Given the description of an element on the screen output the (x, y) to click on. 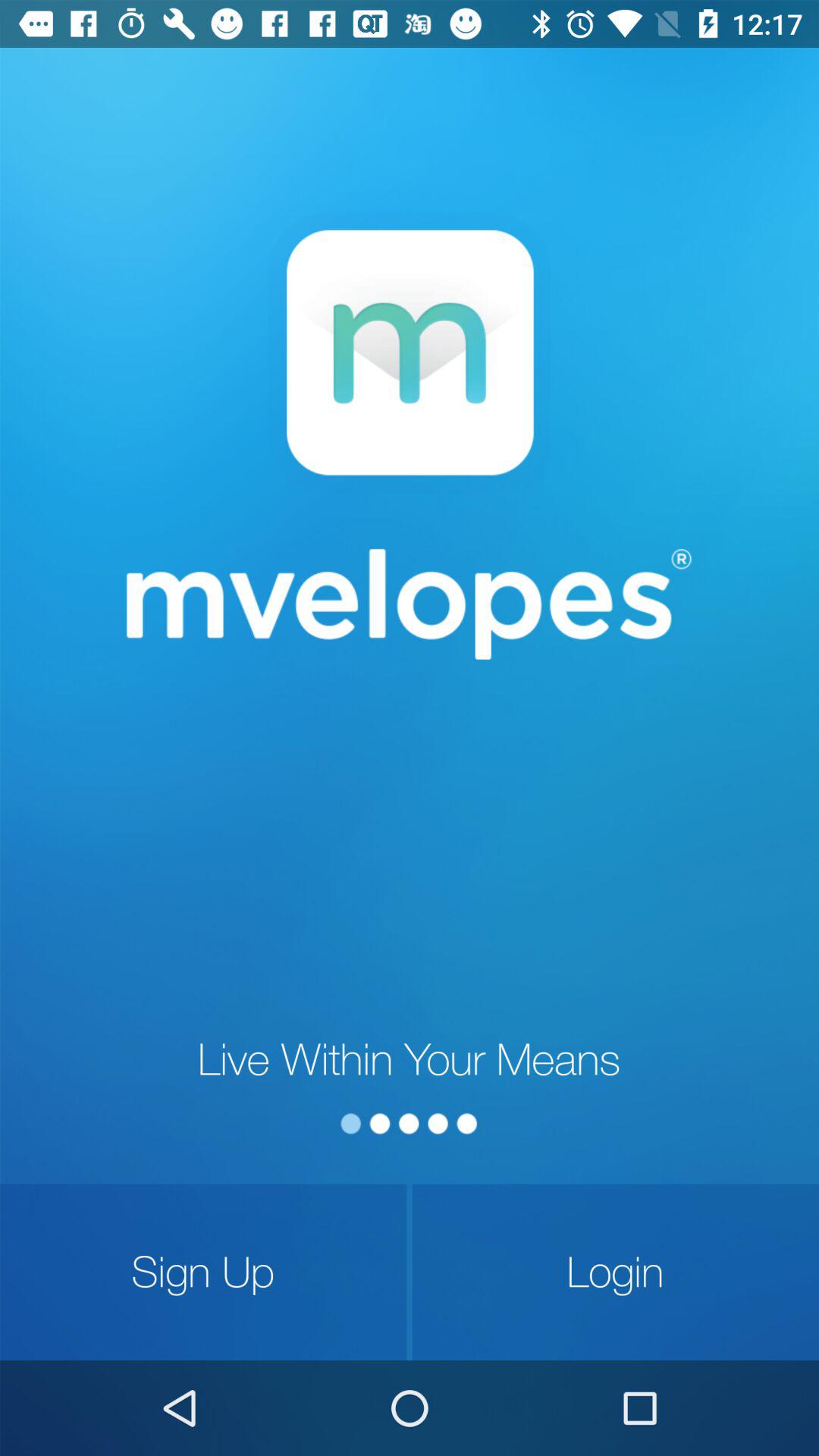
turn on item next to sign up (615, 1272)
